Given the description of an element on the screen output the (x, y) to click on. 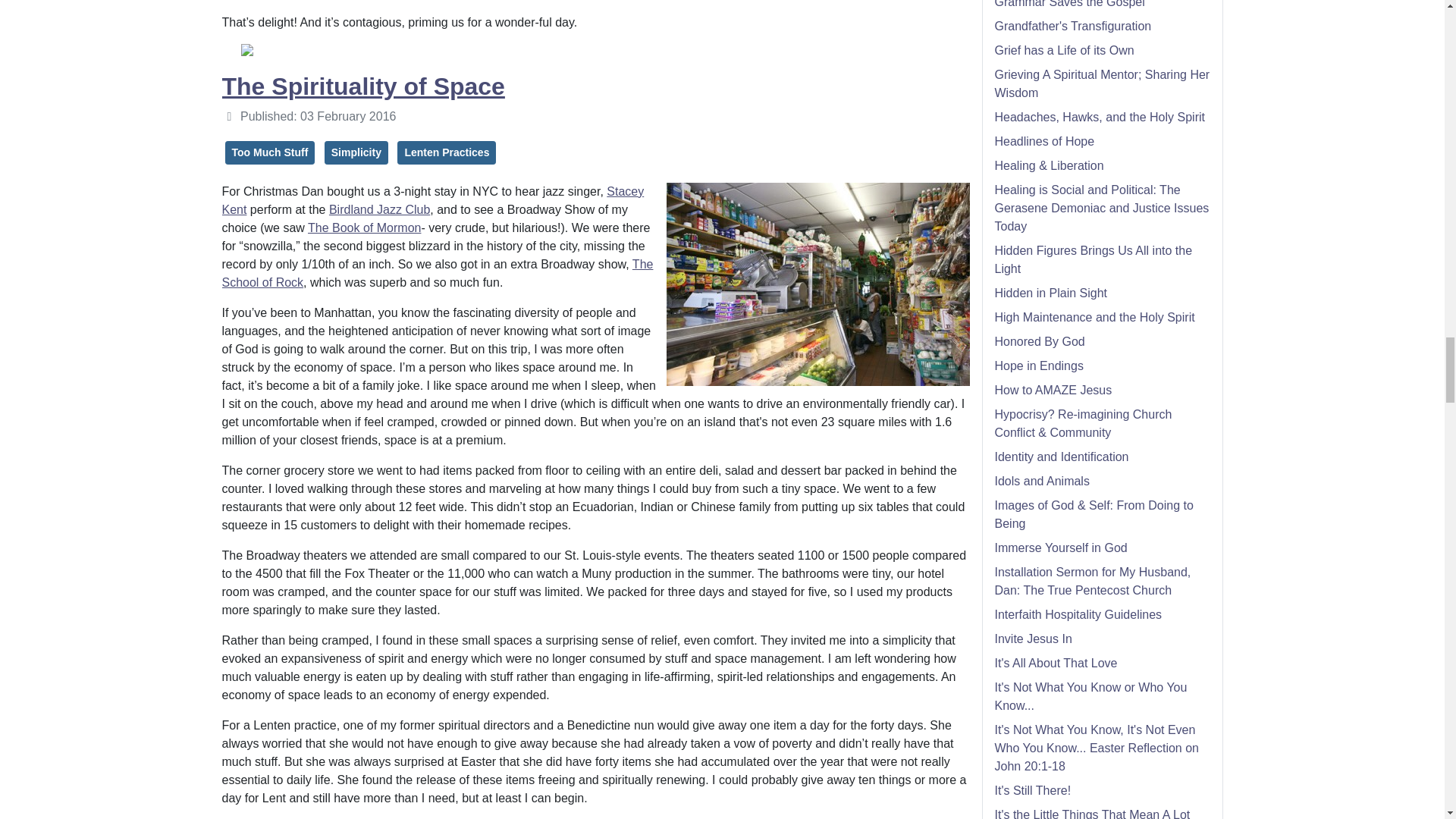
The Spirituality of Space (362, 85)
